Given the description of an element on the screen output the (x, y) to click on. 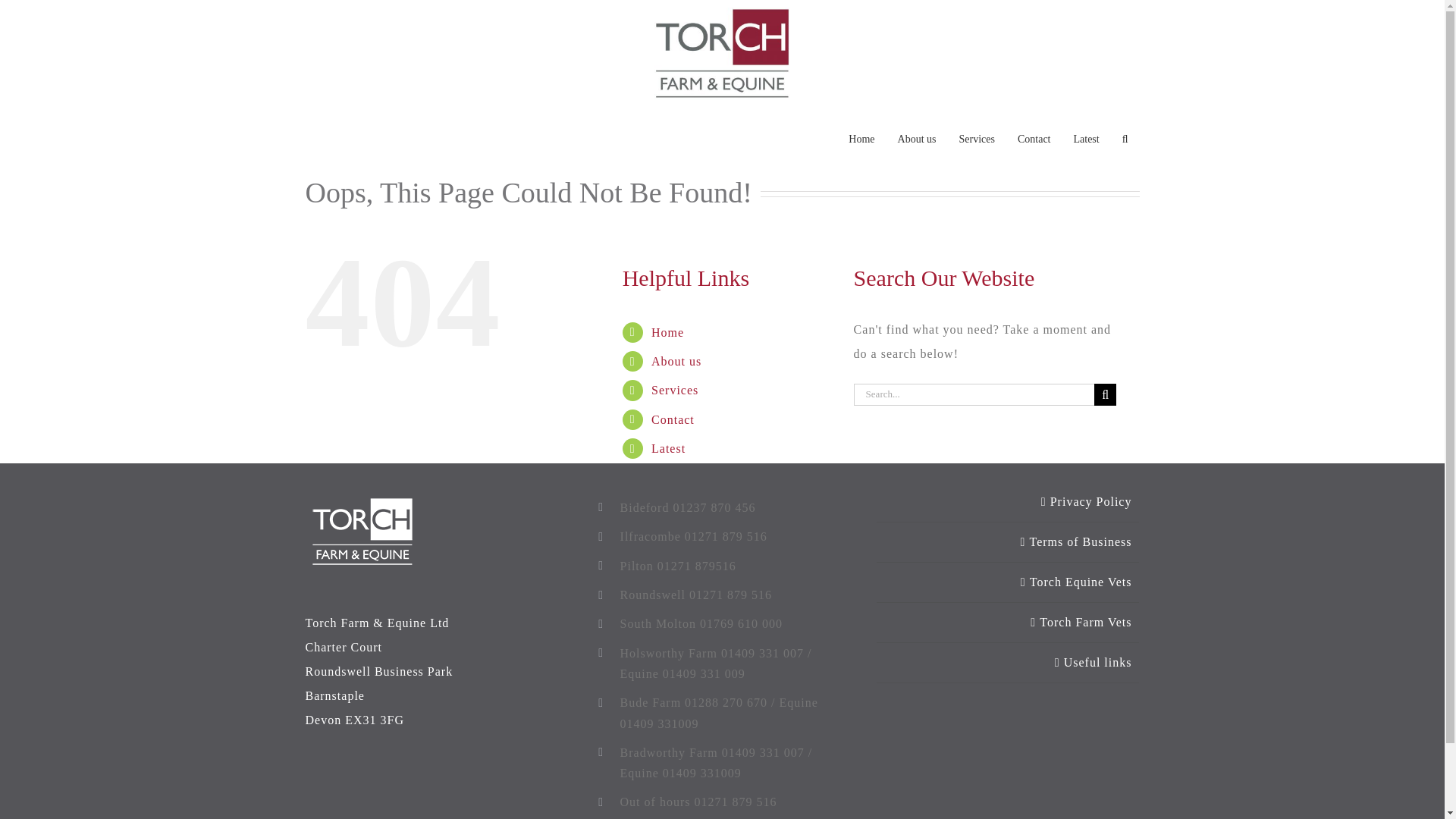
Services (674, 390)
Services (976, 139)
Terms of Business (1008, 541)
Useful links (1008, 662)
Privacy Policy (1008, 501)
Latest (667, 448)
Contact (672, 419)
Torch Equine Vets (1008, 582)
About us (675, 360)
Torch Farm Vets (1008, 622)
About us (916, 139)
Home (667, 332)
